Given the description of an element on the screen output the (x, y) to click on. 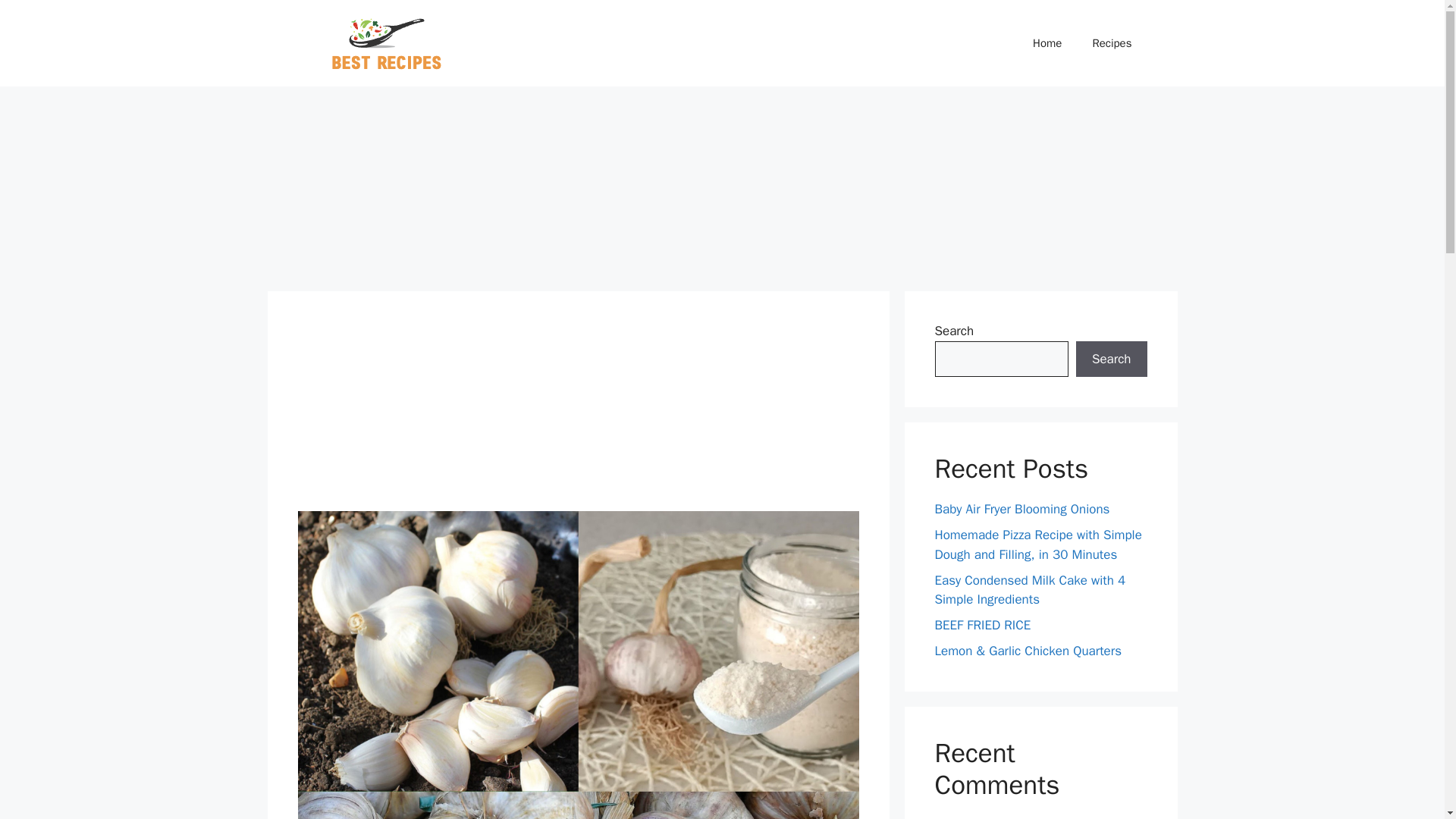
Recipes (1112, 43)
BEEF FRIED RICE (982, 625)
Home (1047, 43)
Baby Air Fryer Blooming Onions (1021, 508)
Search (1111, 359)
Easy Condensed Milk Cake with 4 Simple Ingredients (1029, 589)
